Given the description of an element on the screen output the (x, y) to click on. 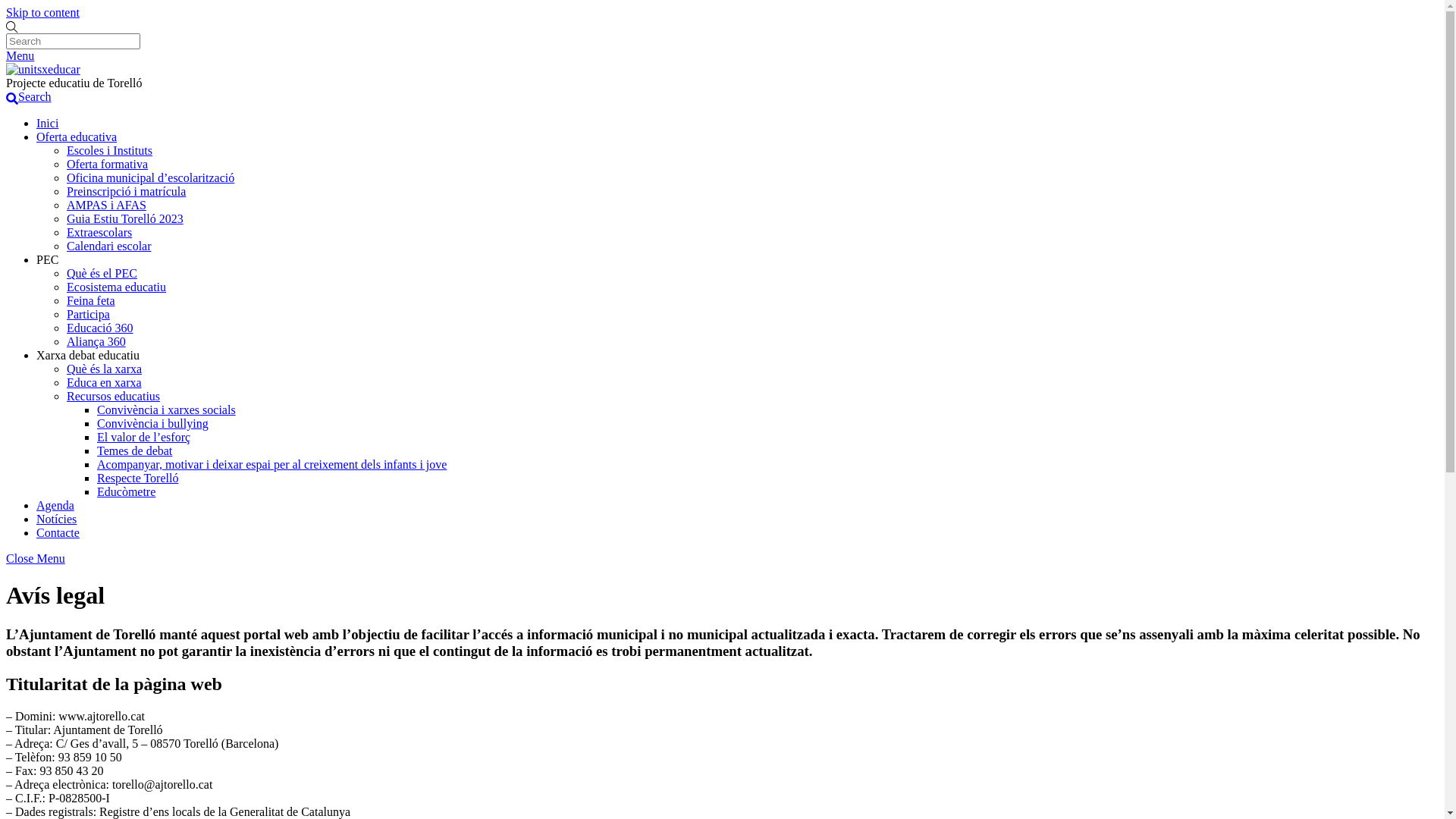
Educa en xarxa Element type: text (103, 382)
Oferta educativa Element type: text (76, 136)
Calendari escolar Element type: text (108, 245)
unitsxeducar-projecte-educatiu-torello Element type: hover (43, 69)
Ecosistema educatiu Element type: text (116, 286)
Recursos educatius Element type: text (113, 395)
Oferta formativa Element type: text (106, 163)
unitsxeducar Element type: hover (43, 68)
Agenda Element type: text (55, 504)
Feina feta Element type: text (90, 300)
Temes de debat Element type: text (134, 450)
Escoles i Instituts Element type: text (109, 150)
PEC Element type: text (47, 259)
Search Element type: hover (73, 41)
Participa Element type: text (87, 313)
Inici Element type: text (47, 122)
AMPAS i AFAS Element type: text (106, 204)
Contacte Element type: text (57, 532)
Menu Element type: text (20, 55)
Search Element type: text (28, 96)
Xarxa debat educatiu Element type: text (87, 354)
Skip to content Element type: text (42, 12)
Extraescolars Element type: text (98, 231)
Close Menu Element type: text (35, 558)
